Given the description of an element on the screen output the (x, y) to click on. 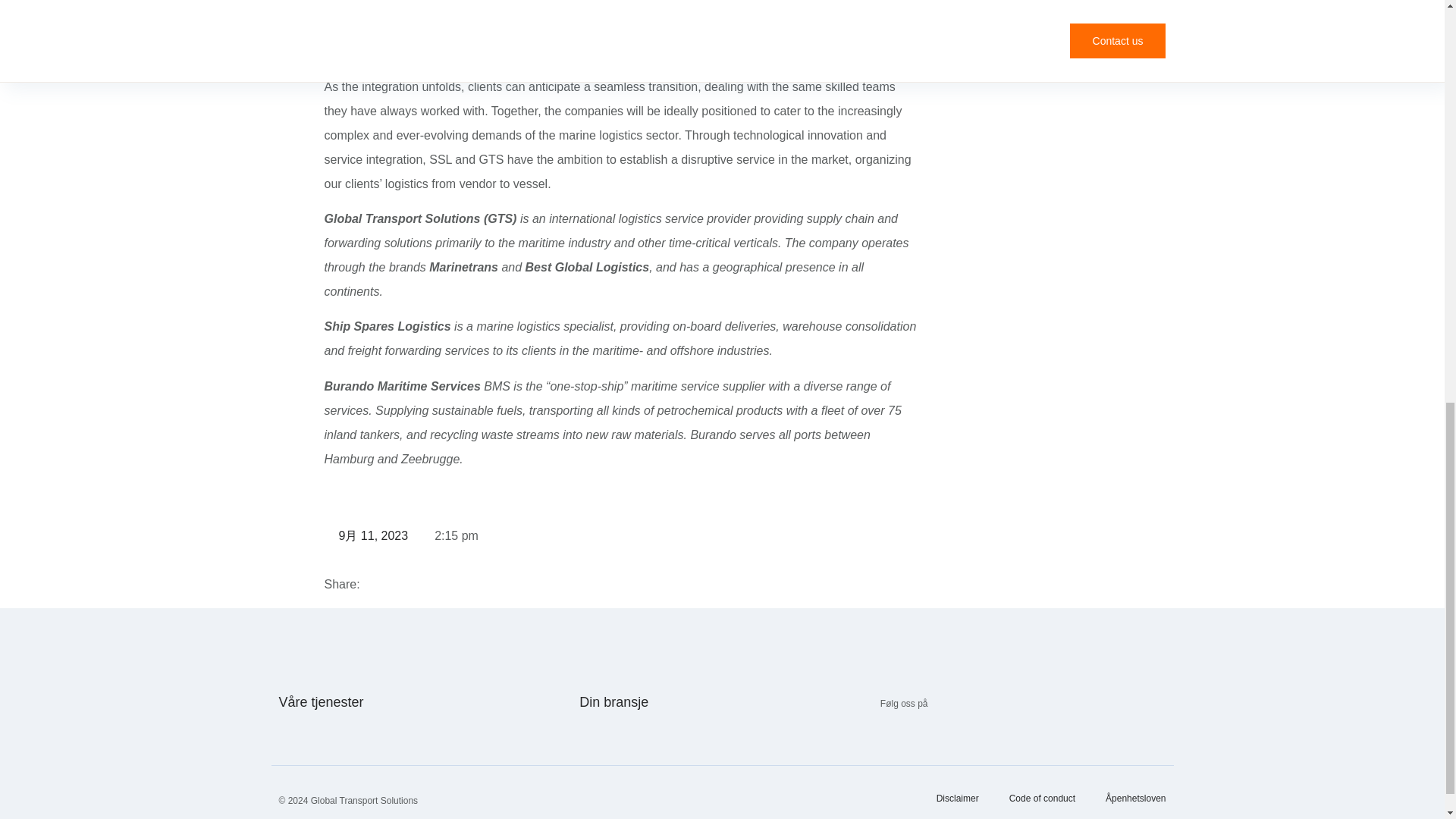
Code of conduct (1042, 798)
Disclaimer (957, 798)
Code of conduct (1042, 798)
